Given the description of an element on the screen output the (x, y) to click on. 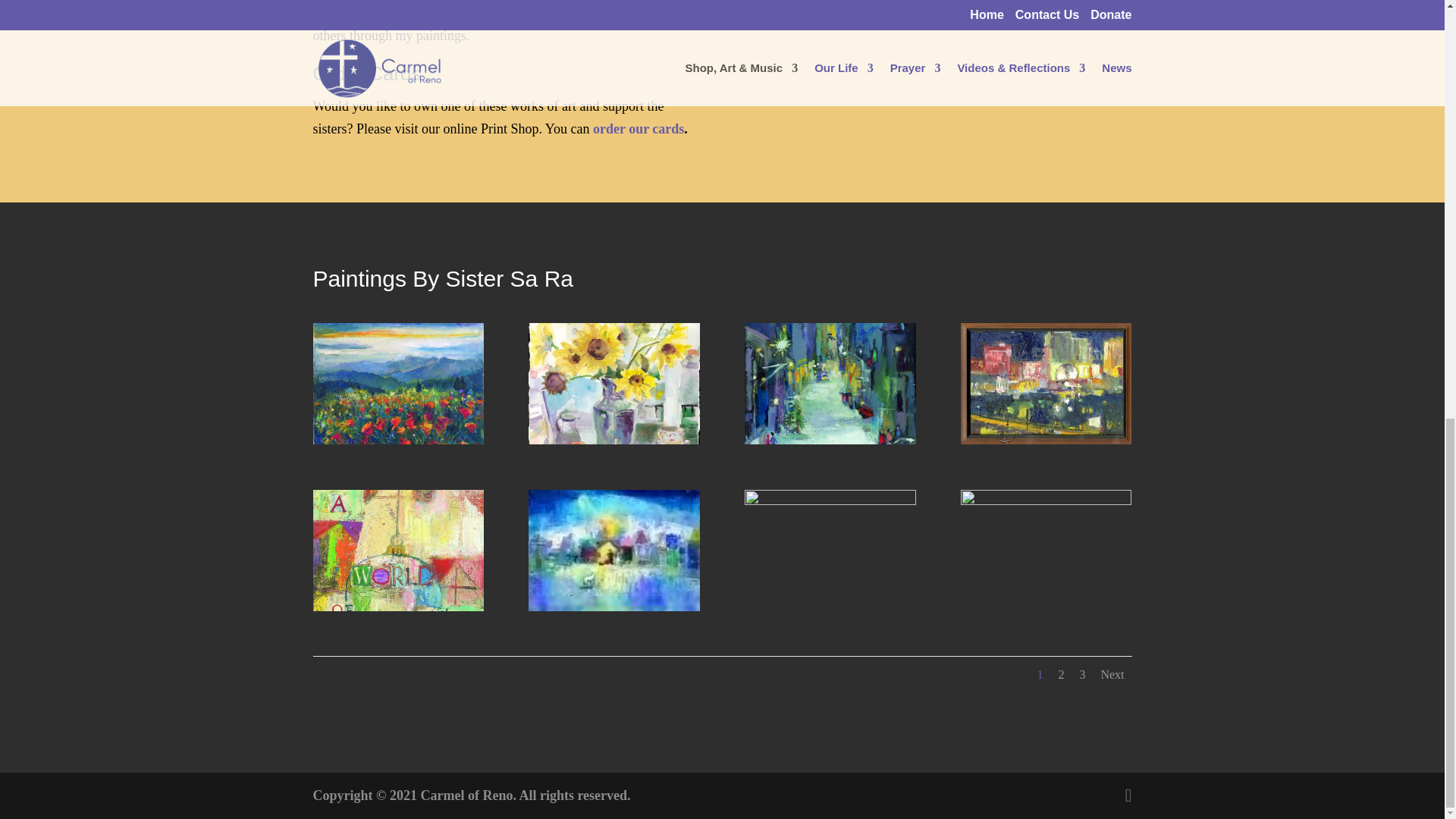
wm-carmel-sa-ra-2 (613, 606)
wm-carmel-sa-ra-15 (1045, 439)
wm-carmel-sa-ra-17 (613, 439)
wm-carmel-sa-ra-16 (829, 439)
wm-carmel-sa-ra-12 (398, 439)
wm-carmel-sa-ra-4 (1045, 500)
wm-carmel-sa-ra-1 (398, 606)
wm-carmel-sa-ra-3 (829, 500)
